Given the description of an element on the screen output the (x, y) to click on. 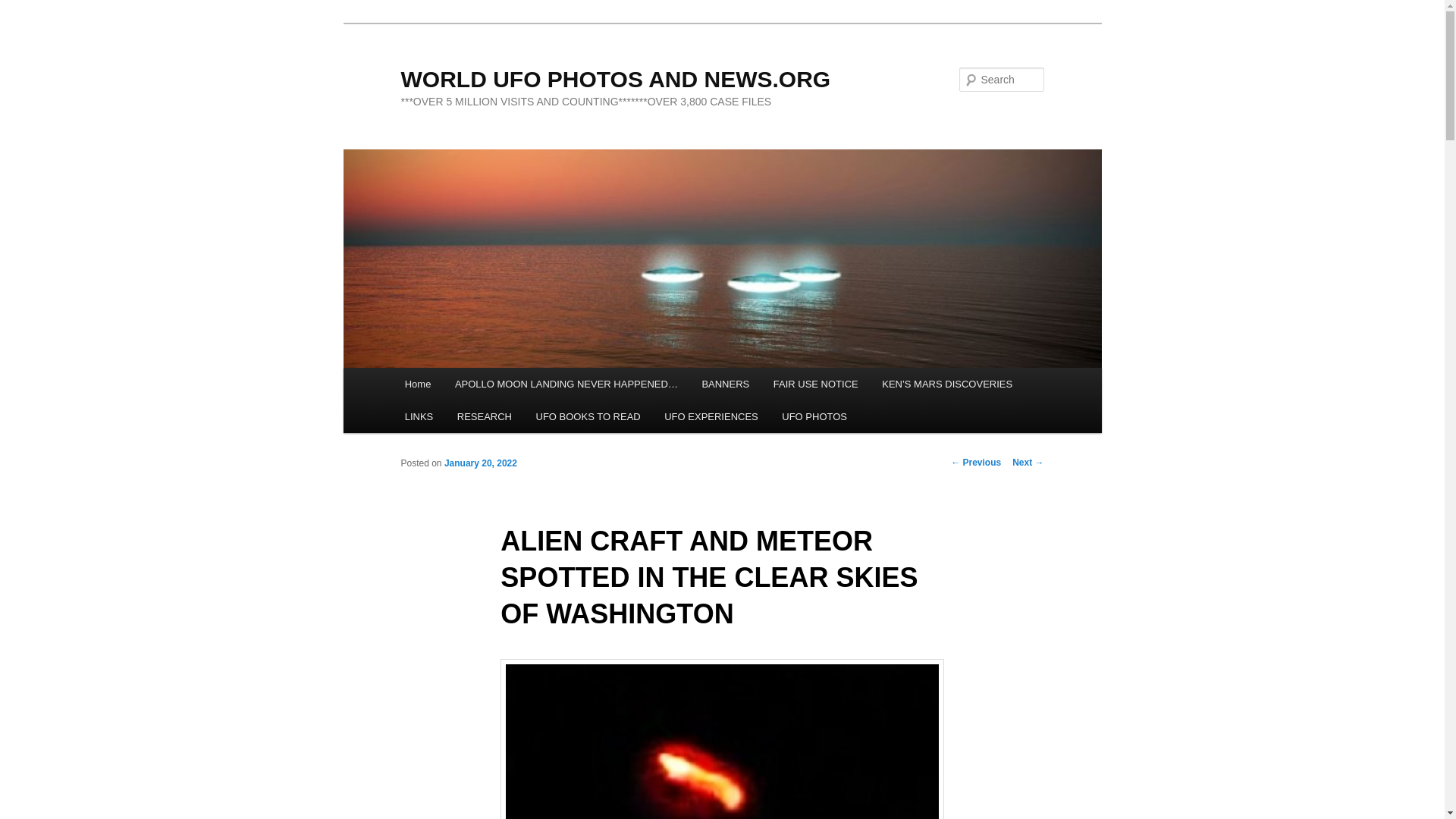
Home (417, 383)
WORLD UFO PHOTOS AND NEWS.ORG (614, 78)
BANNERS (725, 383)
January 20, 2022 (480, 462)
RESEARCH (484, 416)
UFO BOOKS TO READ (588, 416)
UFO PHOTOS (814, 416)
7:53 pm (480, 462)
FAIR USE NOTICE (815, 383)
Search (24, 8)
LINKS (419, 416)
UFO EXPERIENCES (711, 416)
